Given the description of an element on the screen output the (x, y) to click on. 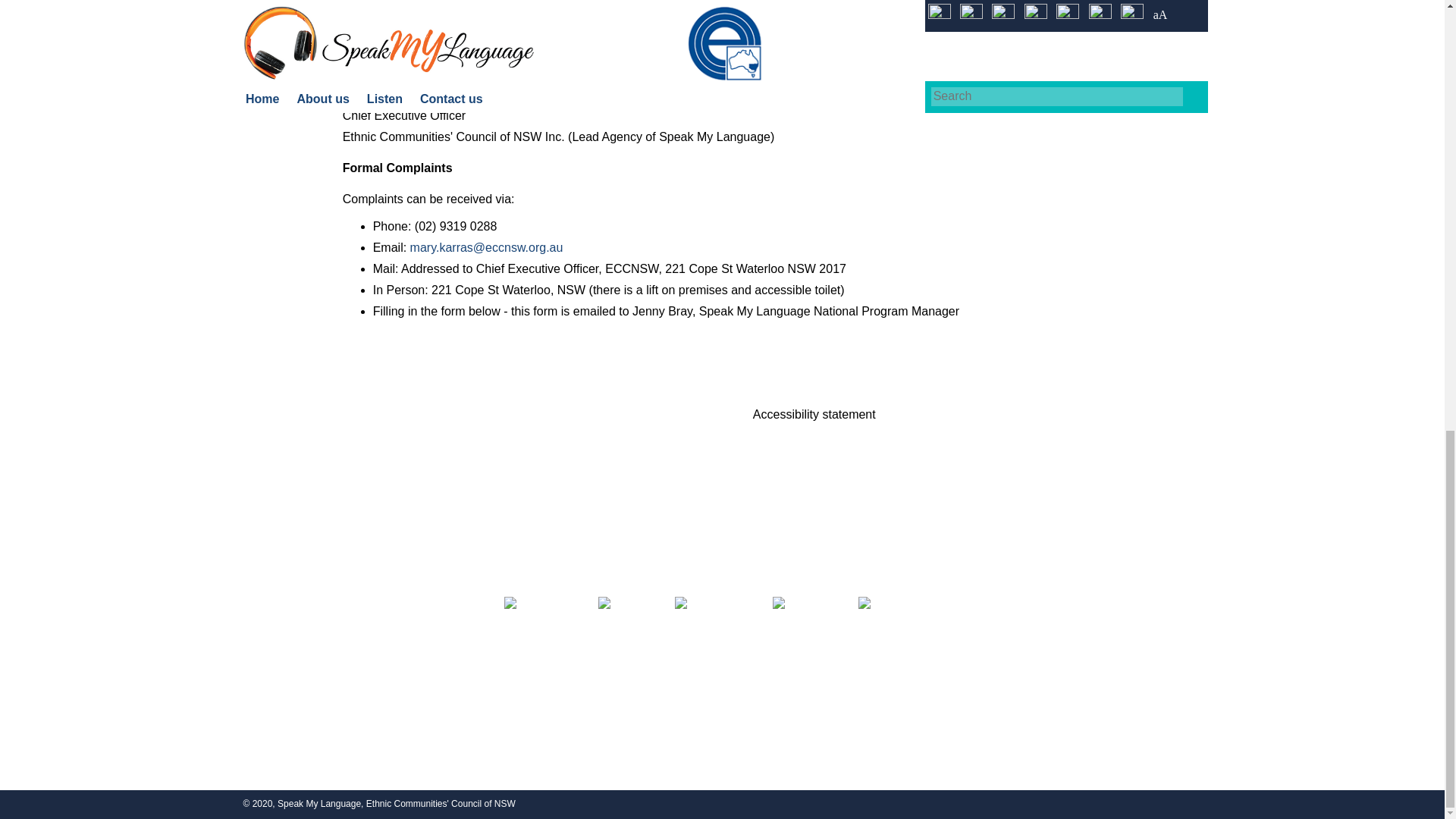
About us (445, 413)
Media inquiries (630, 413)
Complaints (814, 441)
News (630, 441)
National team (445, 495)
State Coordinators (445, 522)
Transcripts (629, 495)
Travellers (446, 549)
Partners (446, 441)
Blog (630, 468)
